Given the description of an element on the screen output the (x, y) to click on. 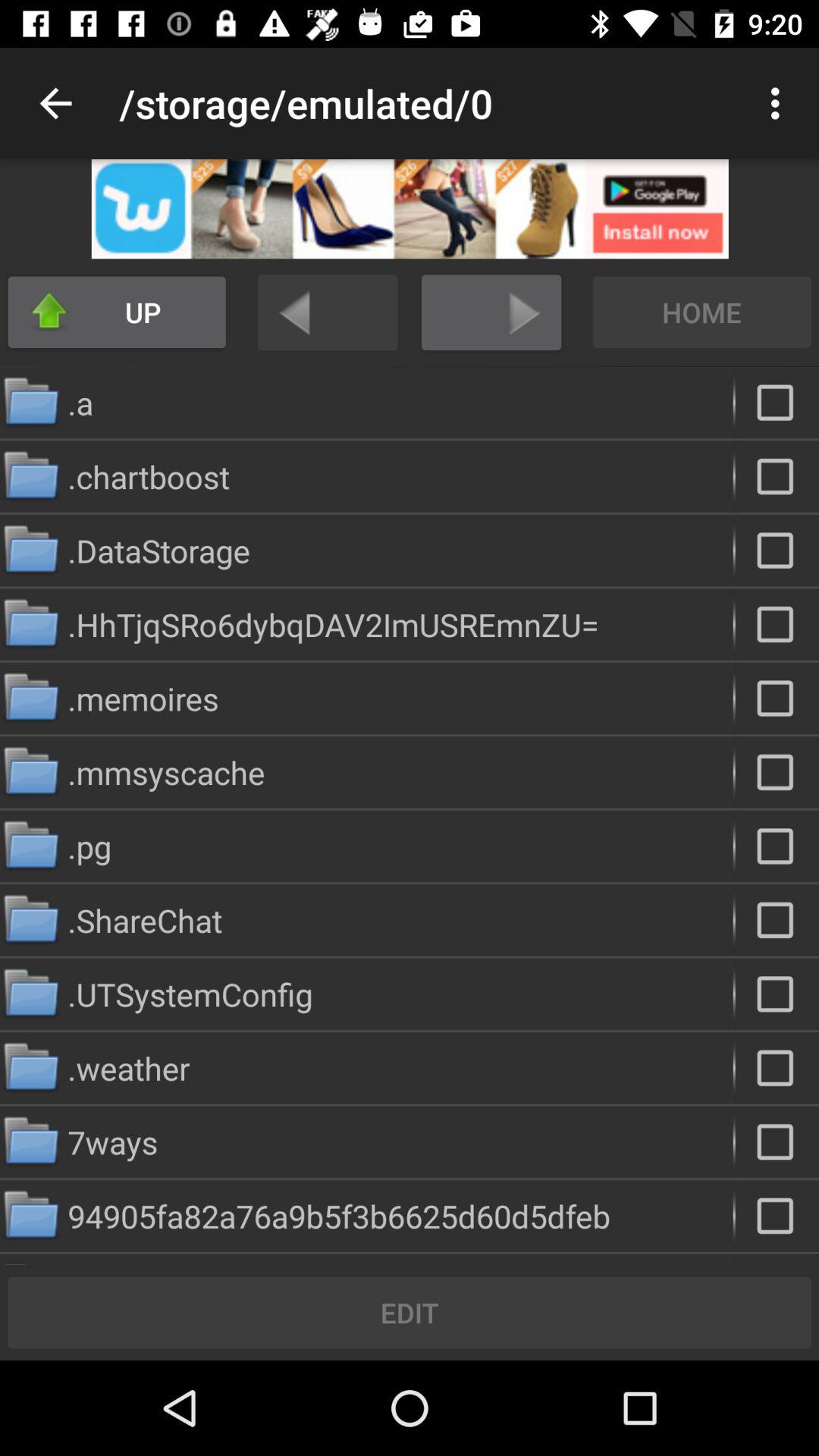
select folder (777, 920)
